Given the description of an element on the screen output the (x, y) to click on. 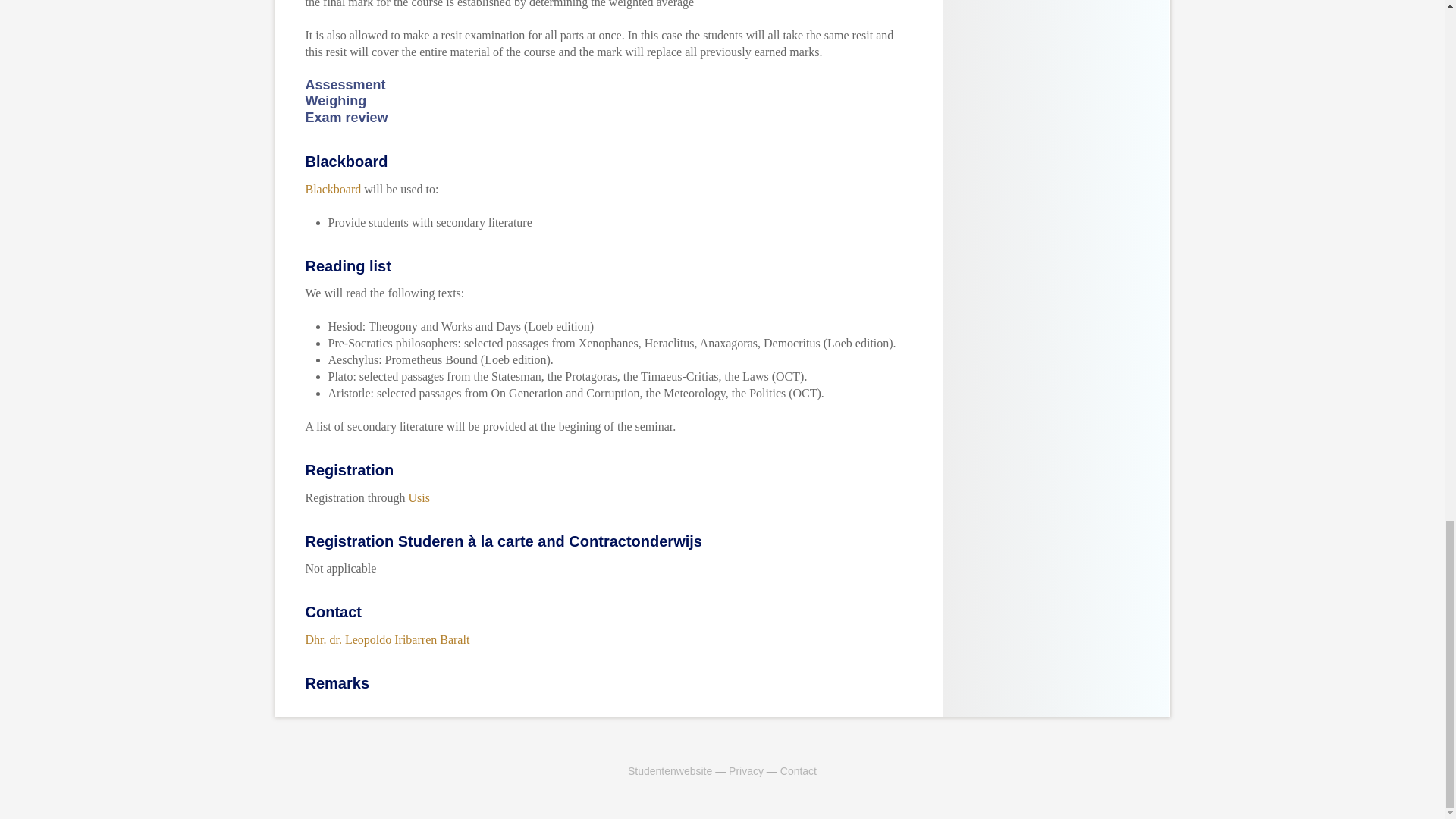
Contact (798, 770)
Blackboard (332, 188)
Privacy (745, 770)
Dhr. dr. Leopoldo Iribarren Baralt (386, 639)
Usis (418, 497)
Studentenwebsite (669, 770)
